Given the description of an element on the screen output the (x, y) to click on. 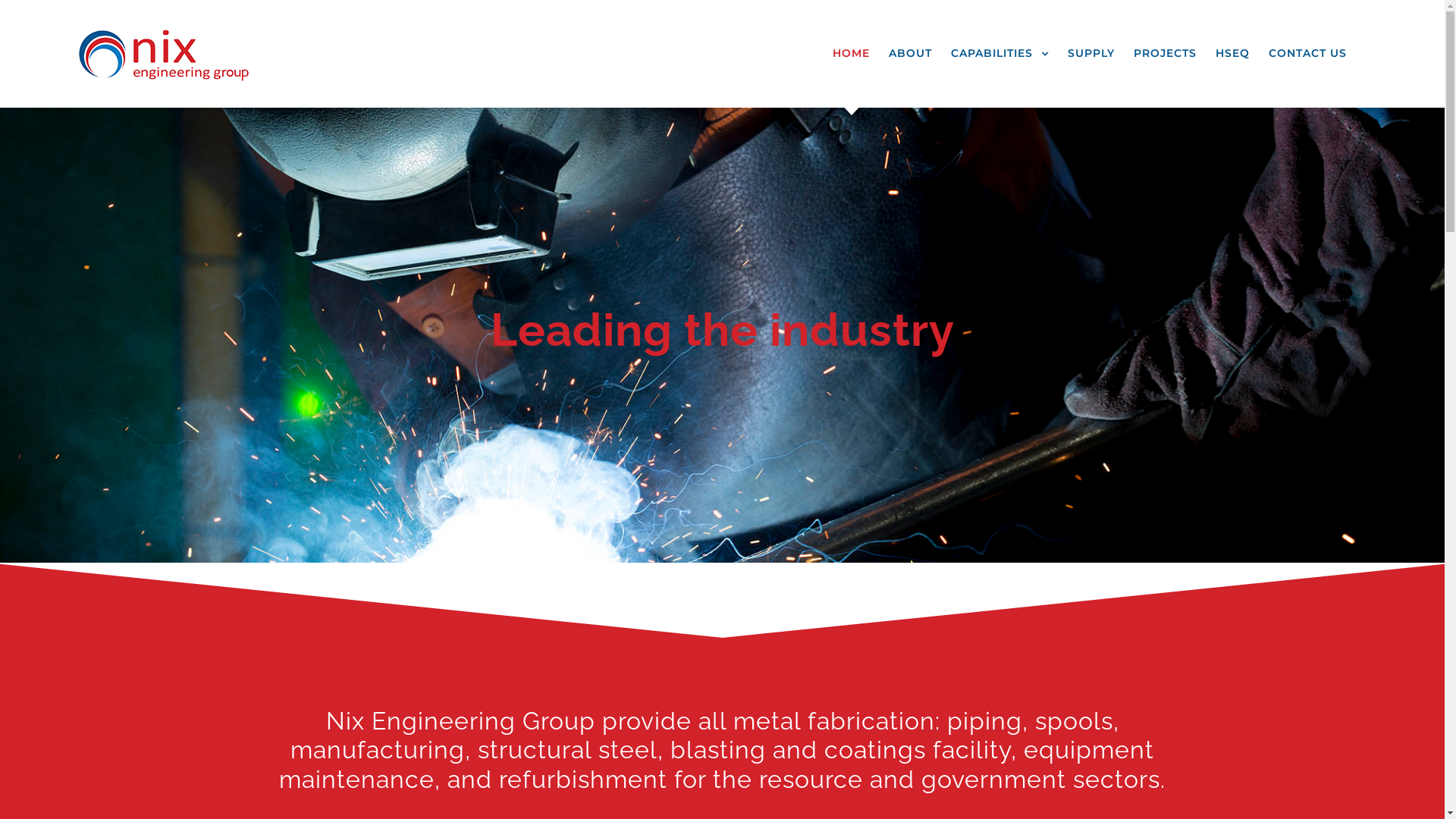
PROJECTS Element type: text (1164, 53)
CONTACT US Element type: text (1307, 53)
CAPABILITIES Element type: text (999, 53)
SUPPLY Element type: text (1090, 53)
HSEQ Element type: text (1232, 53)
ABOUT Element type: text (909, 53)
HOME Element type: text (850, 53)
